Given the description of an element on the screen output the (x, y) to click on. 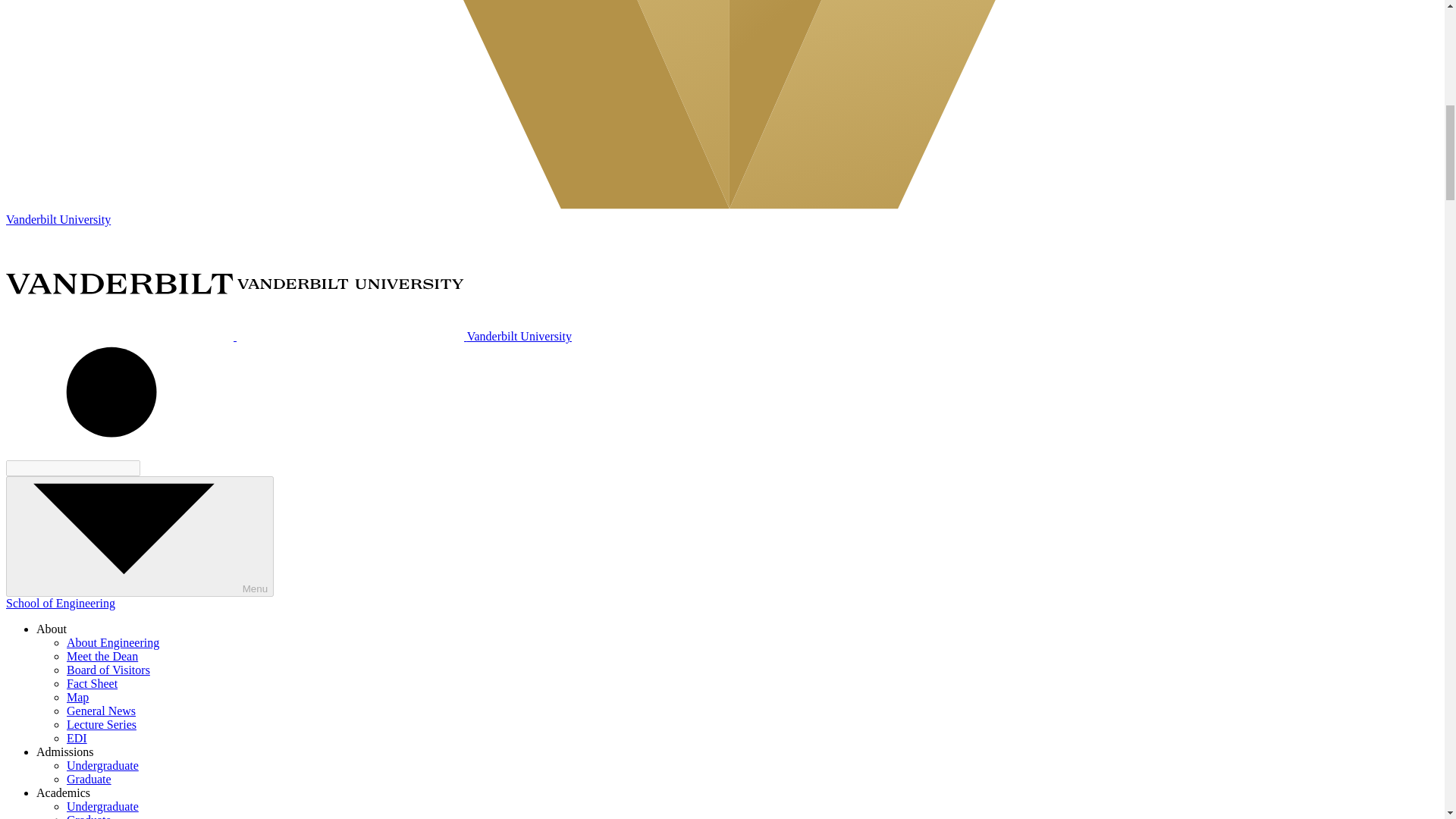
Undergraduate (102, 806)
Academics (63, 792)
School of Engineering (60, 603)
Map (77, 697)
Vanderbilt University (288, 336)
EDI (76, 738)
Meet the Dean (102, 656)
About (51, 628)
About Engineering (112, 642)
Graduate (89, 779)
